Given the description of an element on the screen output the (x, y) to click on. 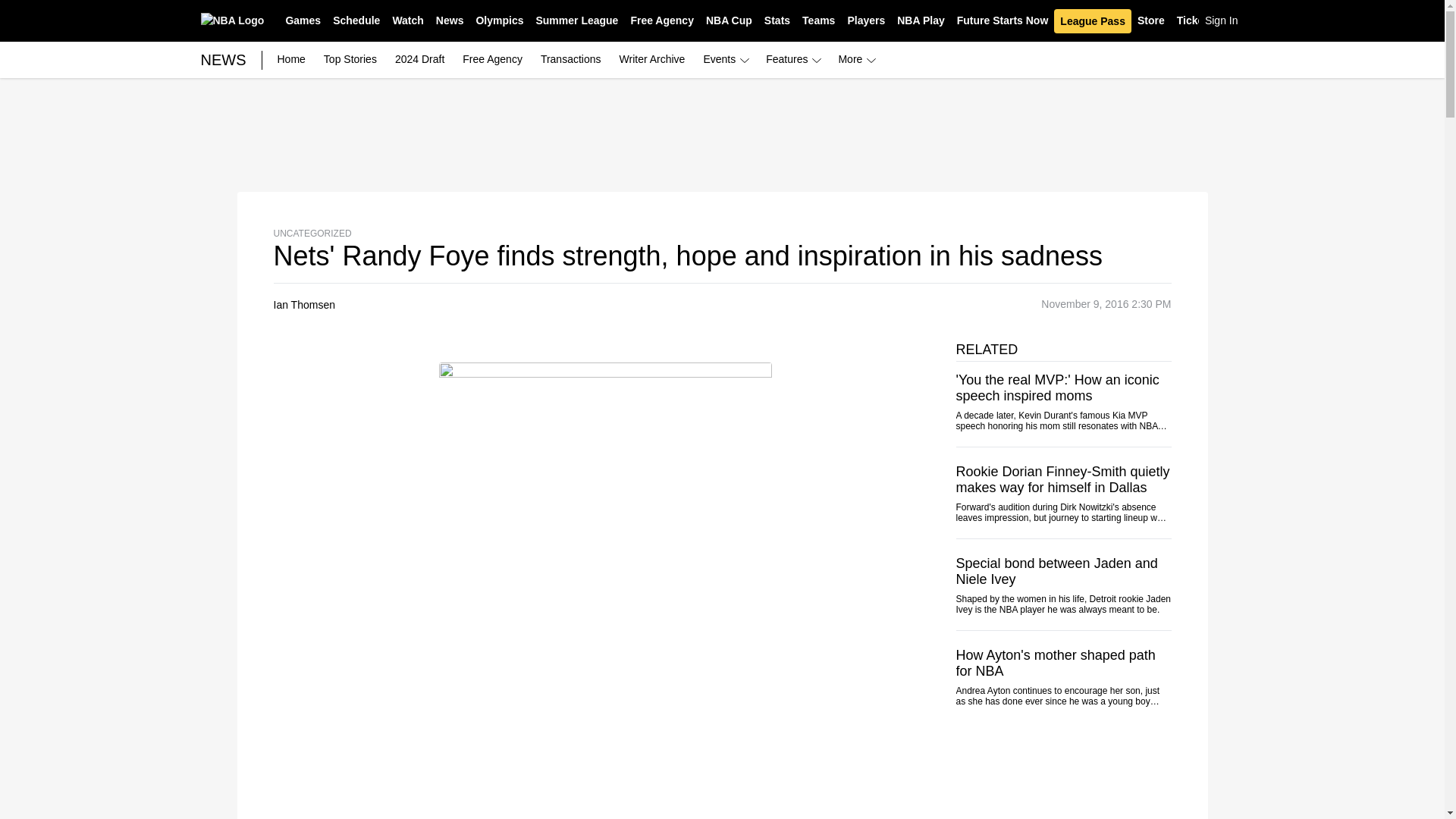
Schedule (355, 20)
News (449, 20)
Watch (407, 20)
Olympics (498, 20)
Free Agency (662, 20)
NBA (231, 20)
Summer League (576, 20)
Games (302, 20)
NBA Cup (729, 20)
Stats (777, 20)
NBA Logo Homepage Button (231, 20)
